Given the description of an element on the screen output the (x, y) to click on. 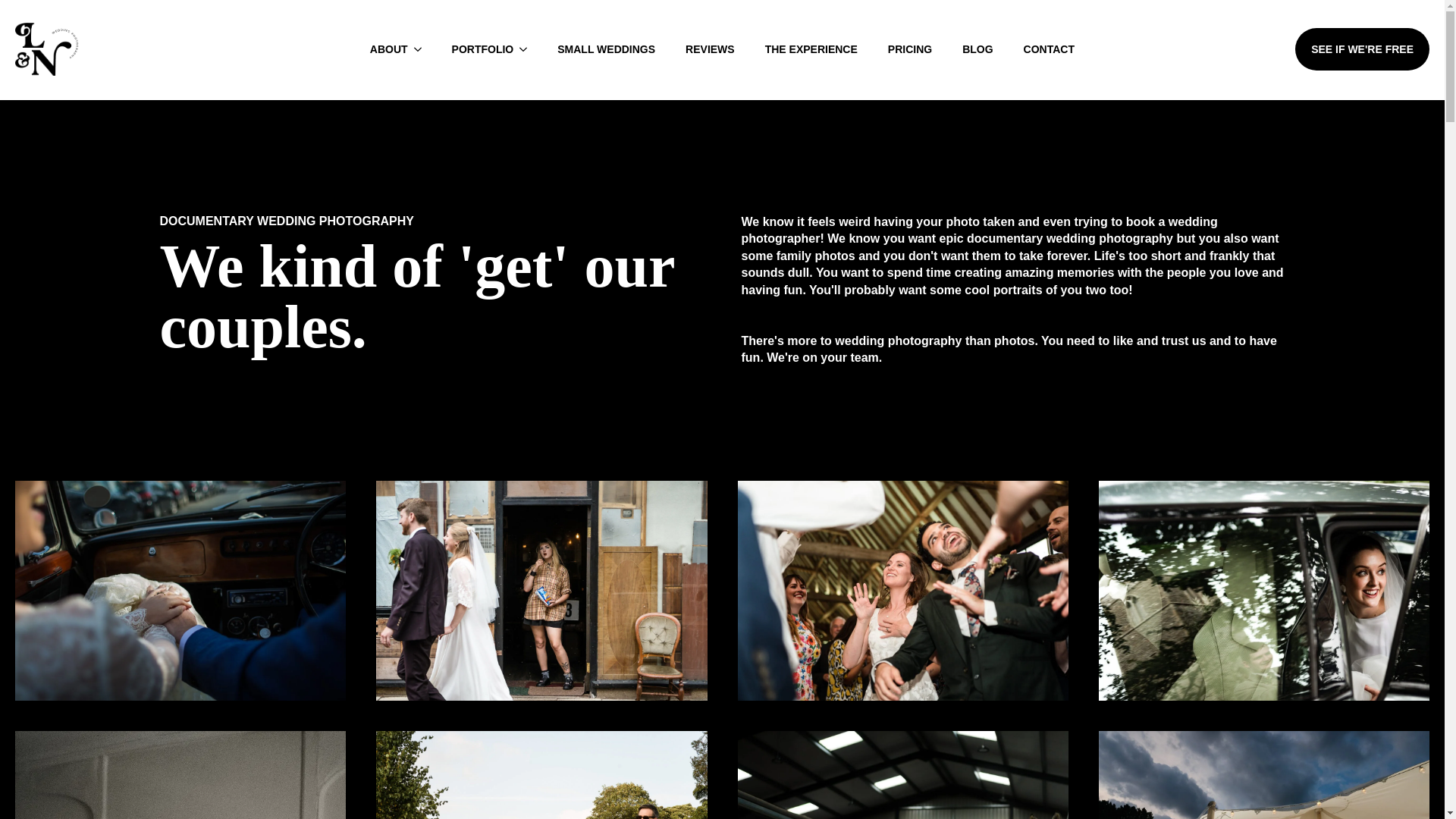
BLOG (977, 48)
PORTFOLIO (474, 48)
CONTACT (1049, 48)
SEE IF WE'RE FREE (1362, 48)
PRICING (909, 48)
REVIEWS (709, 48)
ABOUT (381, 48)
THE EXPERIENCE (810, 48)
SMALL WEDDINGS (605, 48)
